Given the description of an element on the screen output the (x, y) to click on. 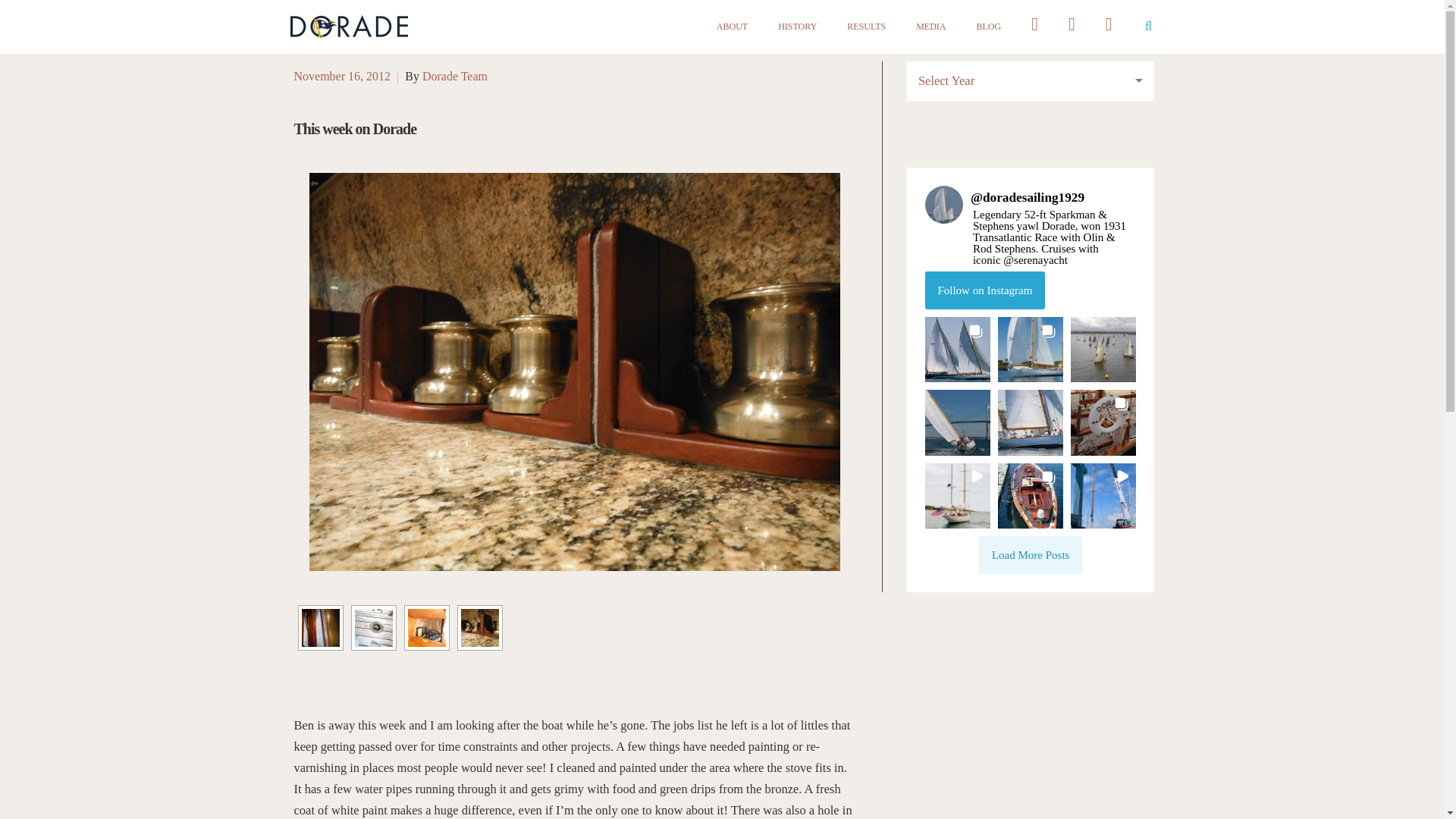
HISTORY (796, 26)
dscf1726 (374, 628)
BLOG (988, 26)
RESULTS (866, 26)
MEDIA (929, 26)
ABOUT (732, 26)
dscf1725 (320, 628)
dscf1730 (426, 628)
dscf1733 (480, 628)
